Given the description of an element on the screen output the (x, y) to click on. 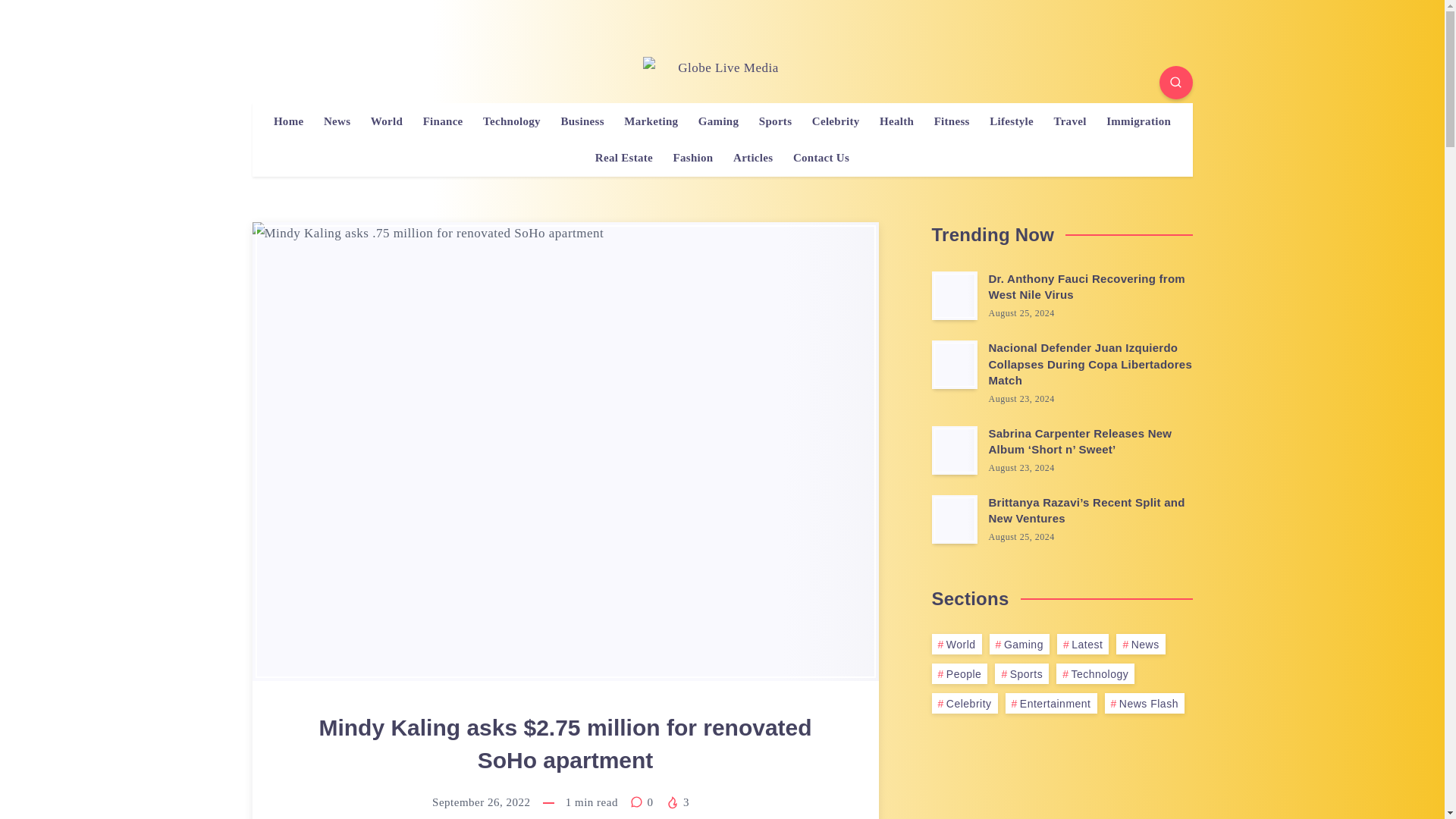
Marketing (651, 121)
Travel (1069, 121)
Sports (775, 121)
Home (288, 121)
Business (582, 121)
3 Views (676, 802)
Celebrity (836, 121)
Health (896, 121)
News (336, 121)
